Given the description of an element on the screen output the (x, y) to click on. 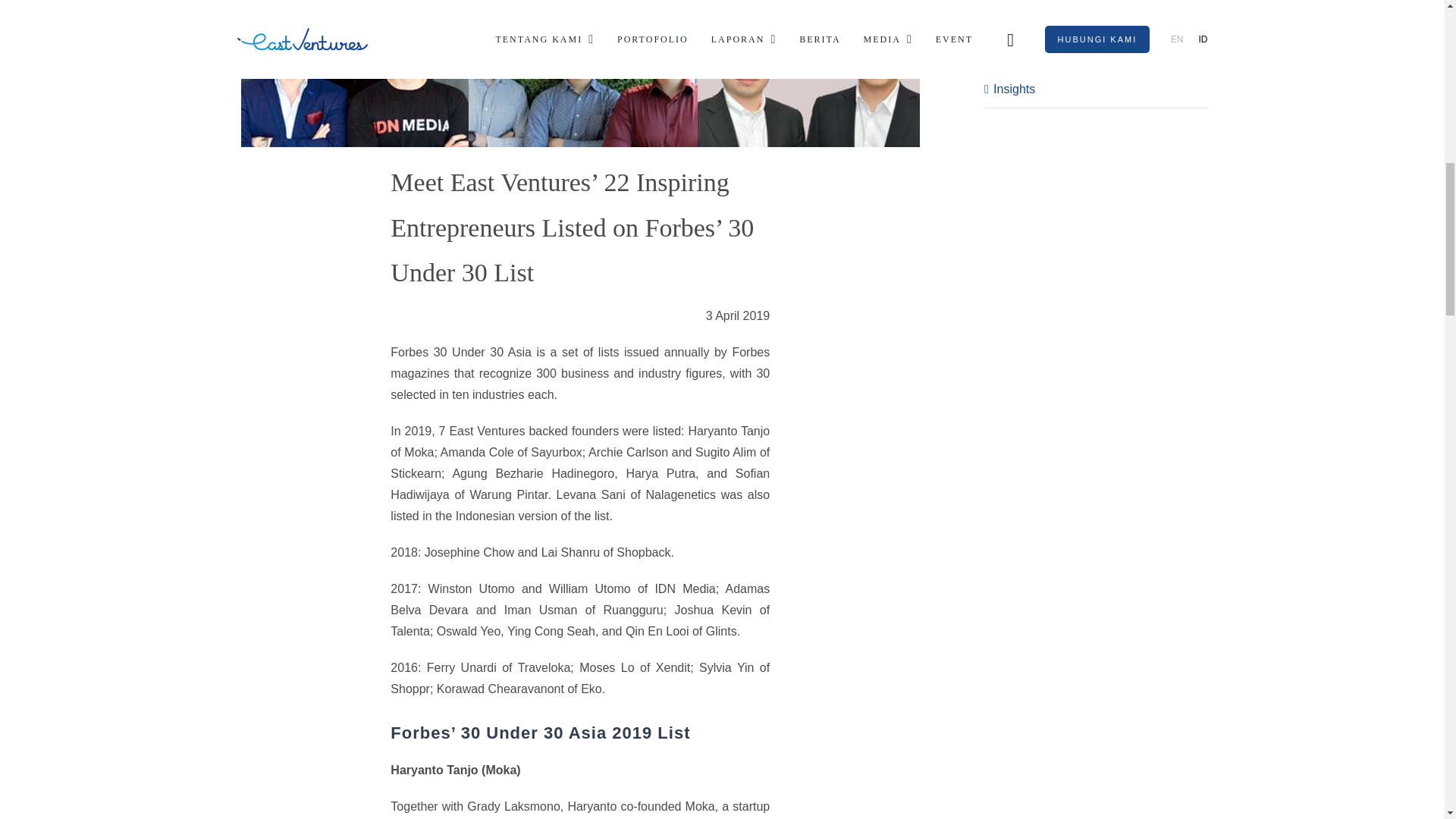
East Ventures (1095, 14)
